Given the description of an element on the screen output the (x, y) to click on. 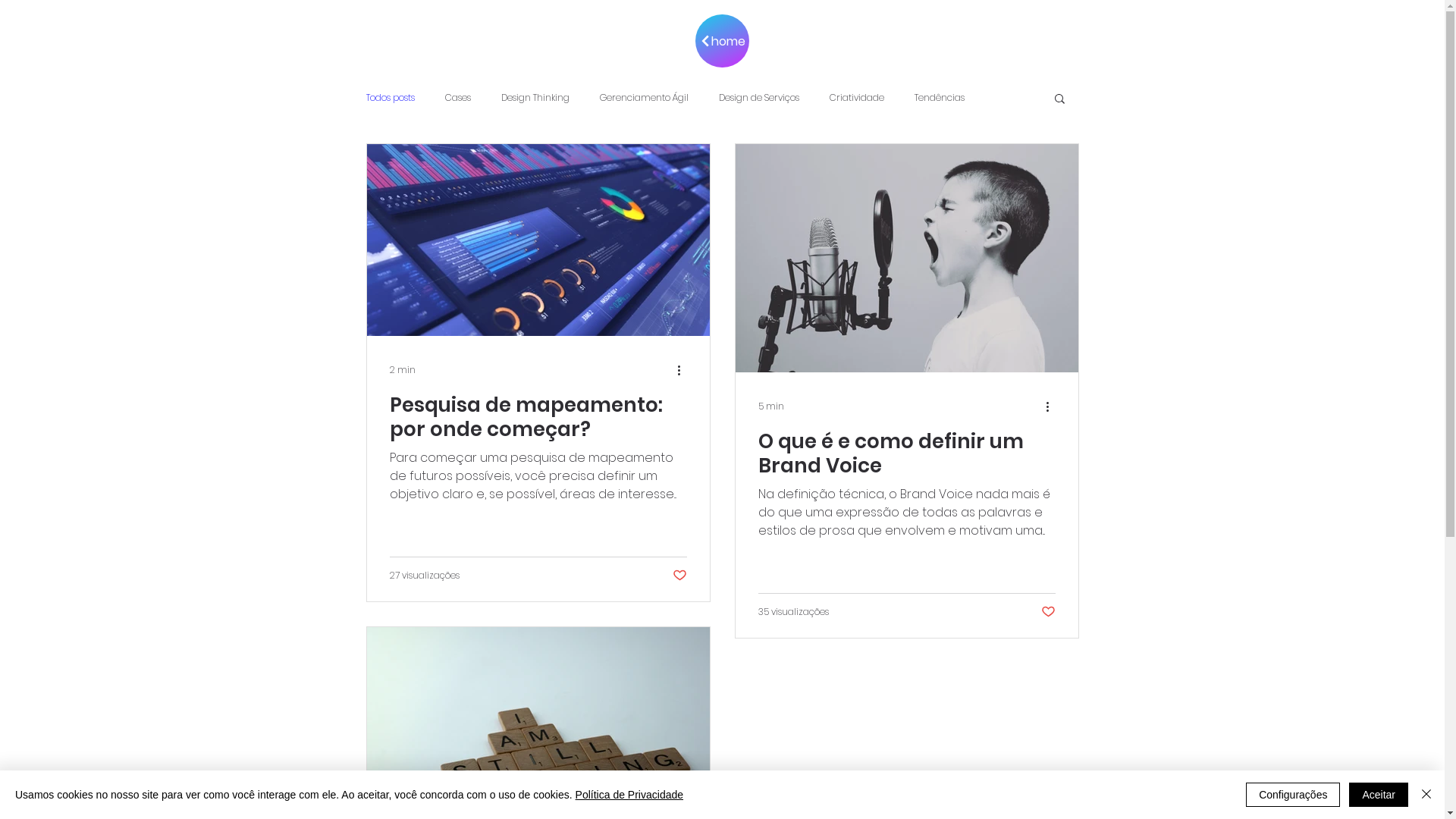
Criatividade Element type: text (856, 97)
Design Thinking Element type: text (534, 97)
Aceitar Element type: text (1378, 794)
Todos posts Element type: text (389, 97)
home Element type: text (721, 40)
Cases Element type: text (457, 97)
